Given the description of an element on the screen output the (x, y) to click on. 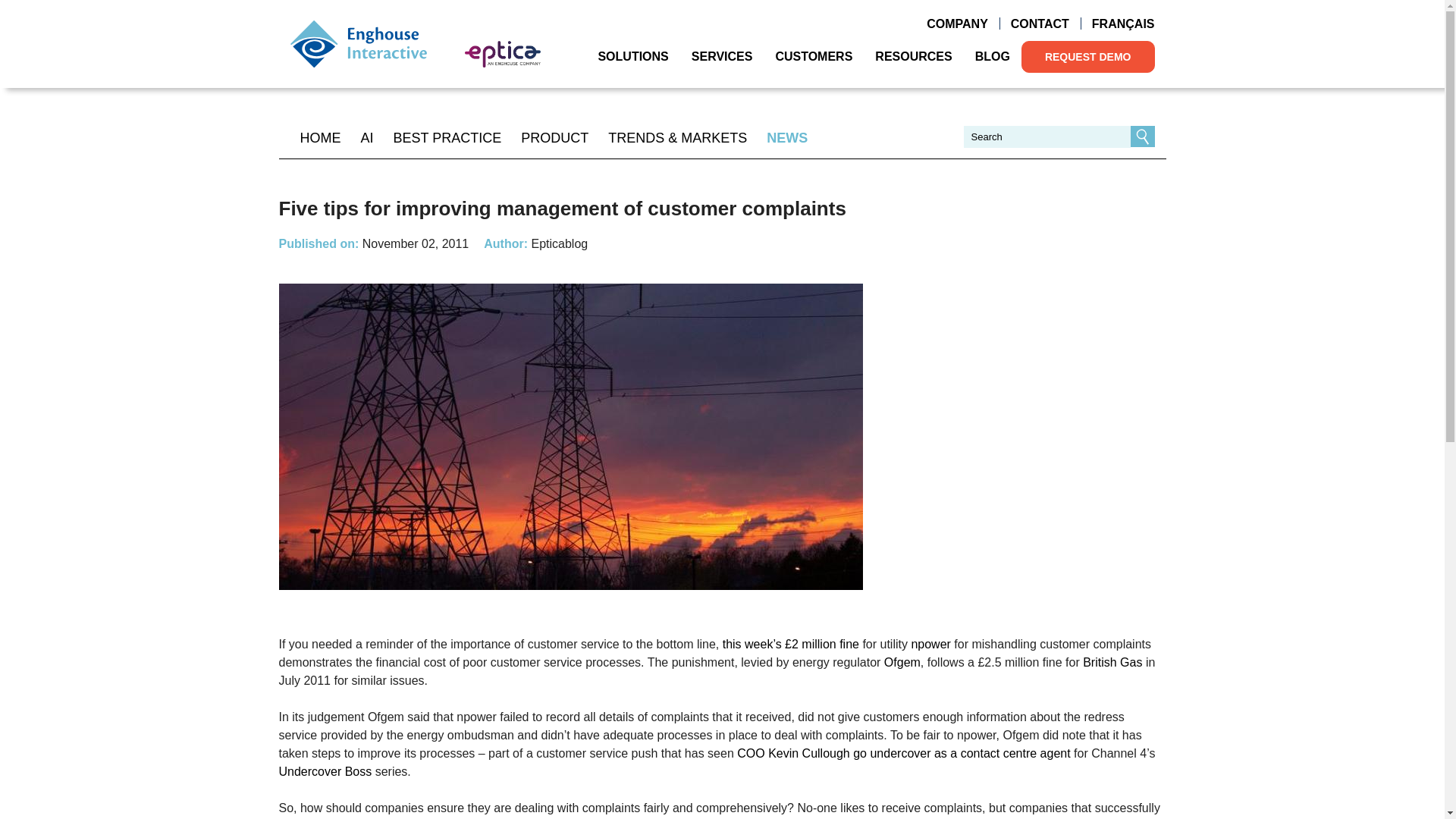
SOLUTIONS (632, 56)
CUSTOMERS (812, 56)
SERVICES (721, 56)
Office of Gas and Electricity Markets (901, 662)
COMPANY (956, 24)
RESOURCES (913, 56)
British Gas plc (1112, 662)
Home (357, 43)
Undercover Boss (325, 771)
CONTACT (1039, 24)
